Given the description of an element on the screen output the (x, y) to click on. 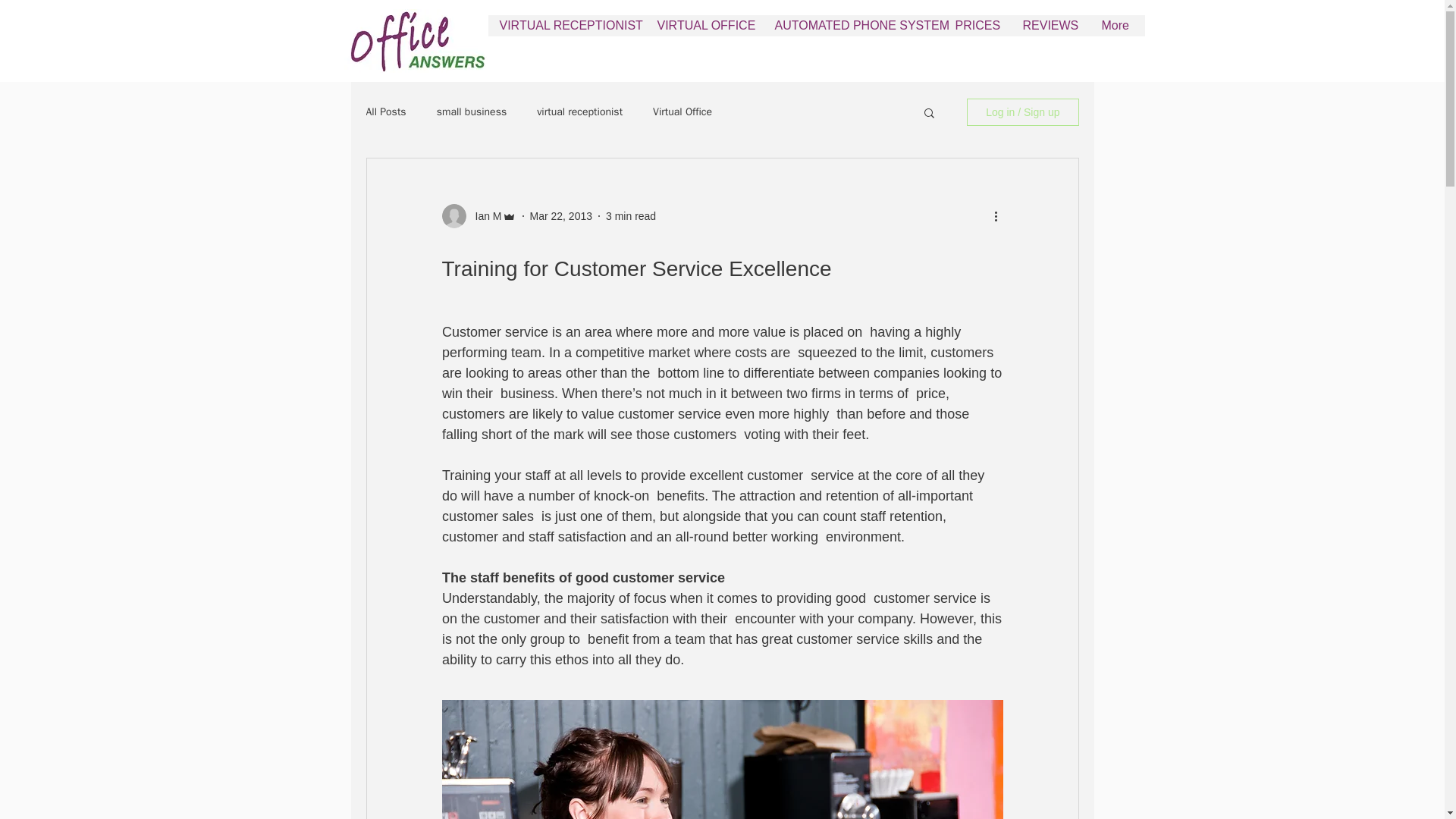
small business (471, 111)
Mar 22, 2013 (560, 215)
All Posts (385, 111)
PRICES (976, 30)
Ian M (482, 215)
VIRTUAL RECEPTIONIST (566, 30)
REVIEWS (1050, 30)
3 min read (630, 215)
virtual receptionist (580, 111)
Virtual Office (681, 111)
